Given the description of an element on the screen output the (x, y) to click on. 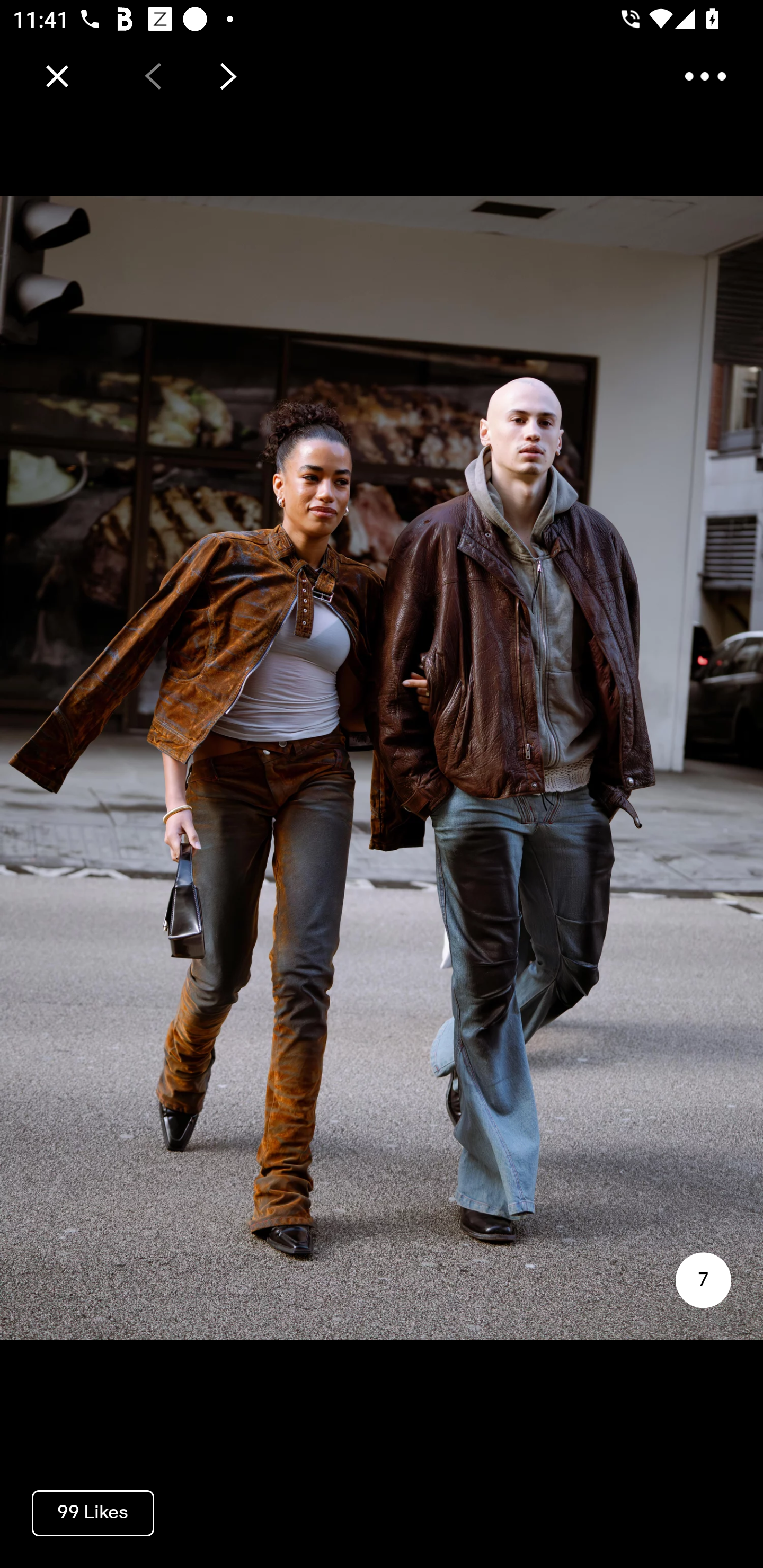
7 (702, 1279)
99 Likes (93, 1512)
